Given the description of an element on the screen output the (x, y) to click on. 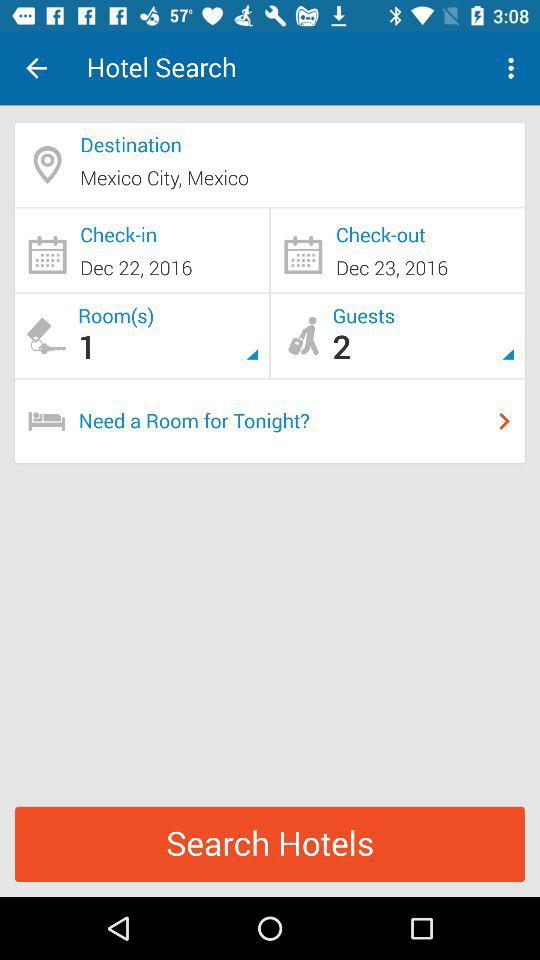
press the item to the left of hotel search item (36, 68)
